Given the description of an element on the screen output the (x, y) to click on. 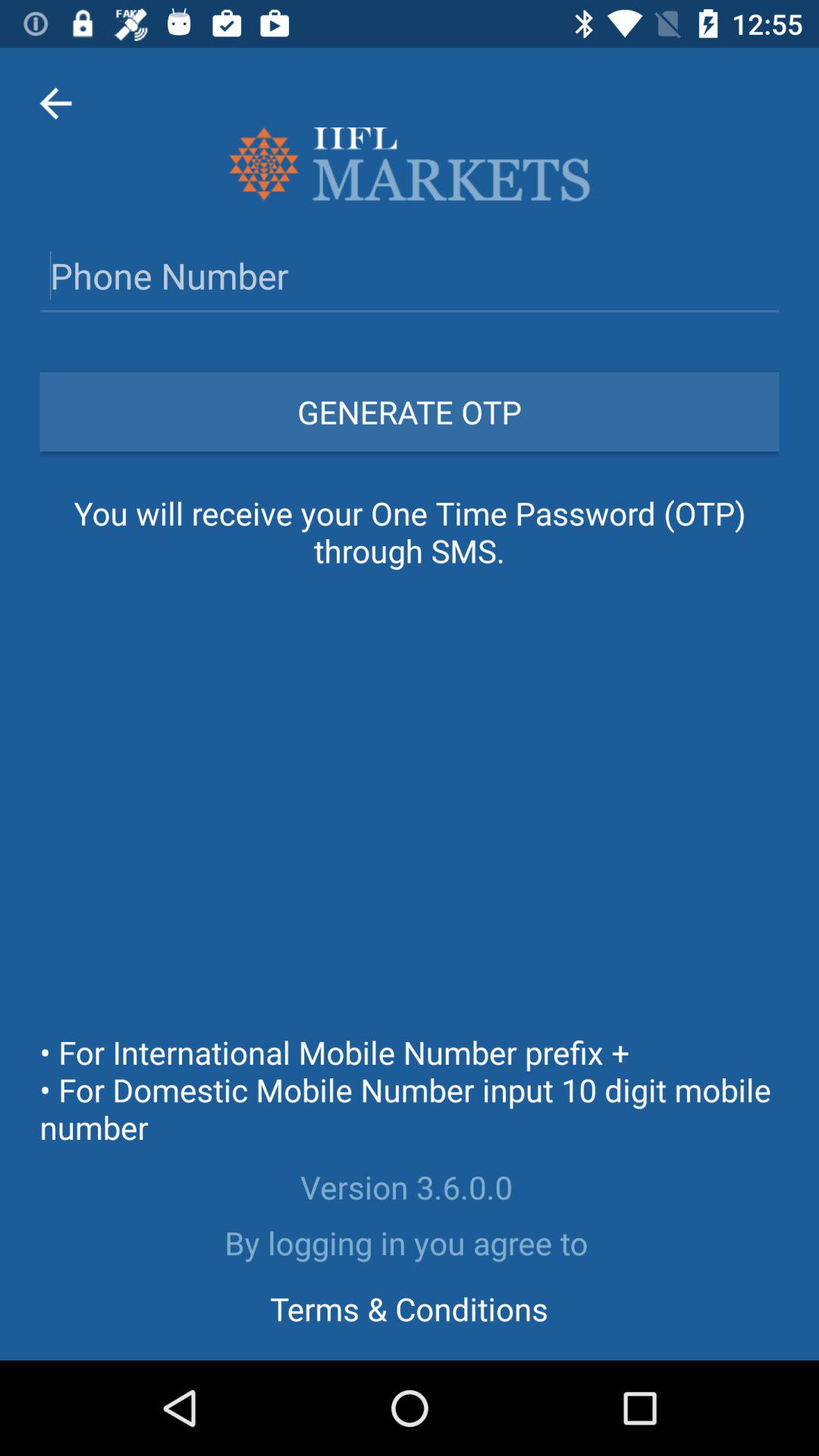
turn on the item below the by logging in icon (409, 1308)
